Given the description of an element on the screen output the (x, y) to click on. 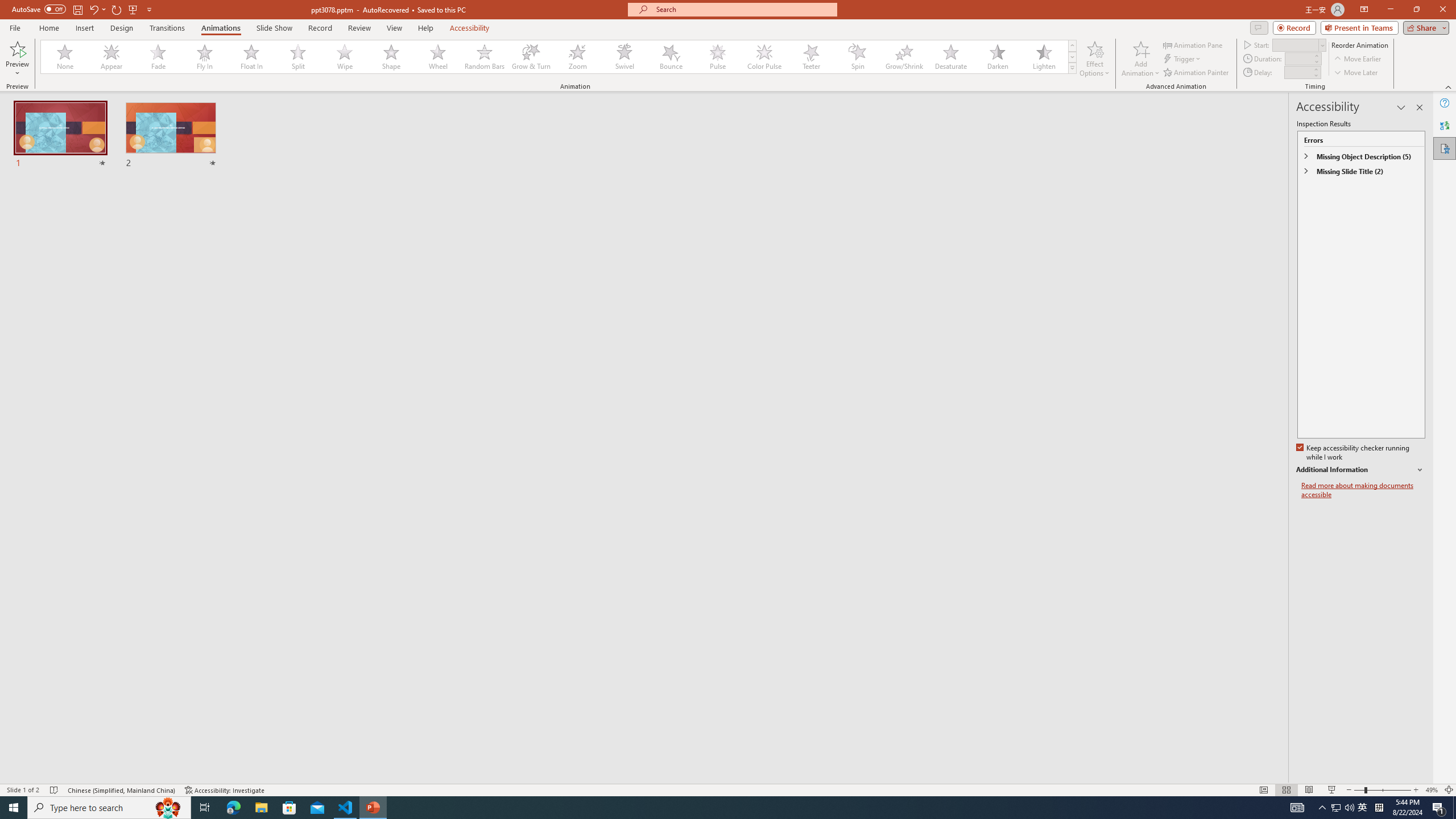
Wheel (437, 56)
Float In (251, 56)
Animation Styles (1071, 67)
